Given the description of an element on the screen output the (x, y) to click on. 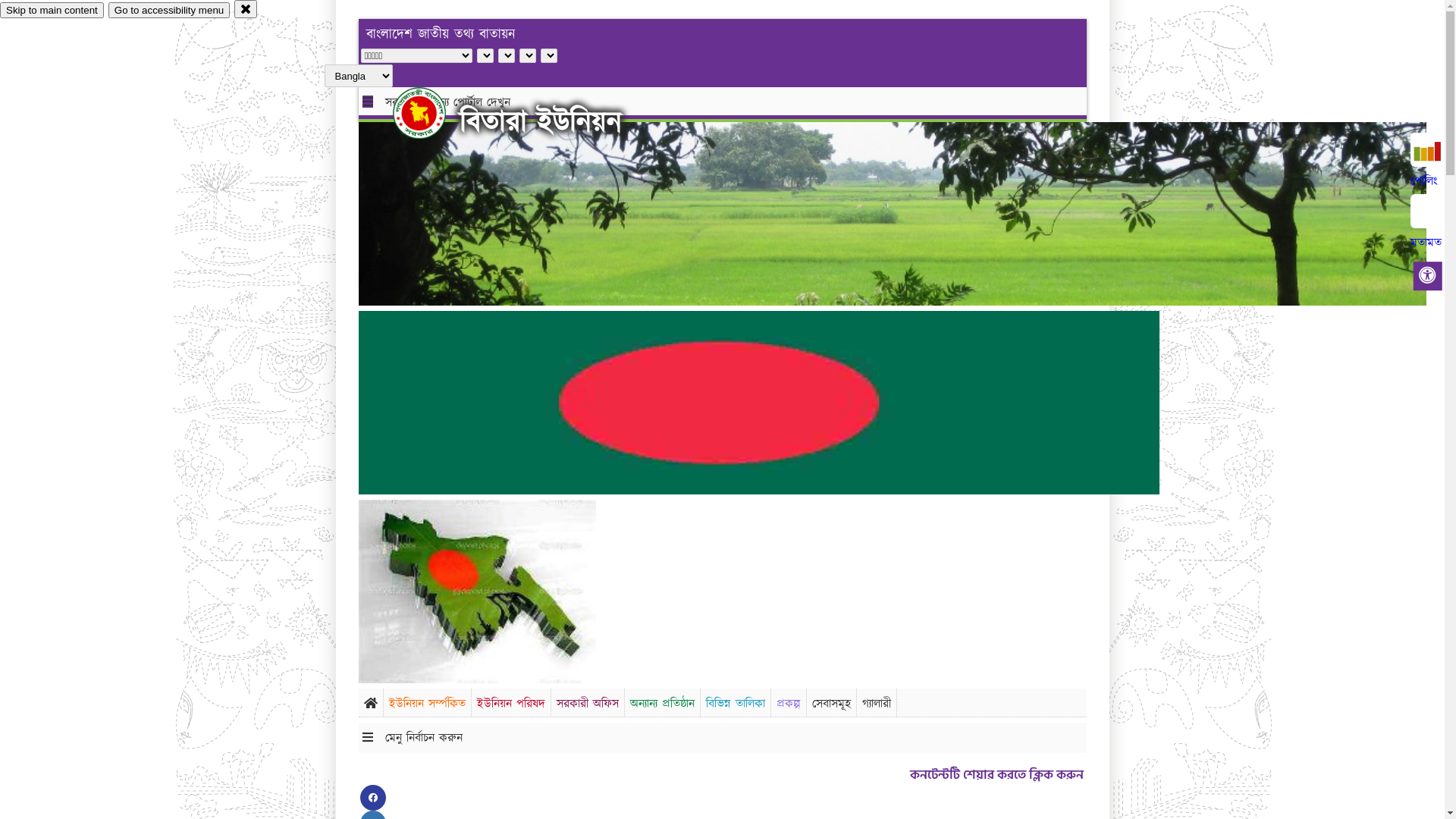
Skip to main content Element type: text (51, 10)

                
             Element type: hover (431, 112)
Go to accessibility menu Element type: text (168, 10)
close Element type: hover (245, 9)
